Given the description of an element on the screen output the (x, y) to click on. 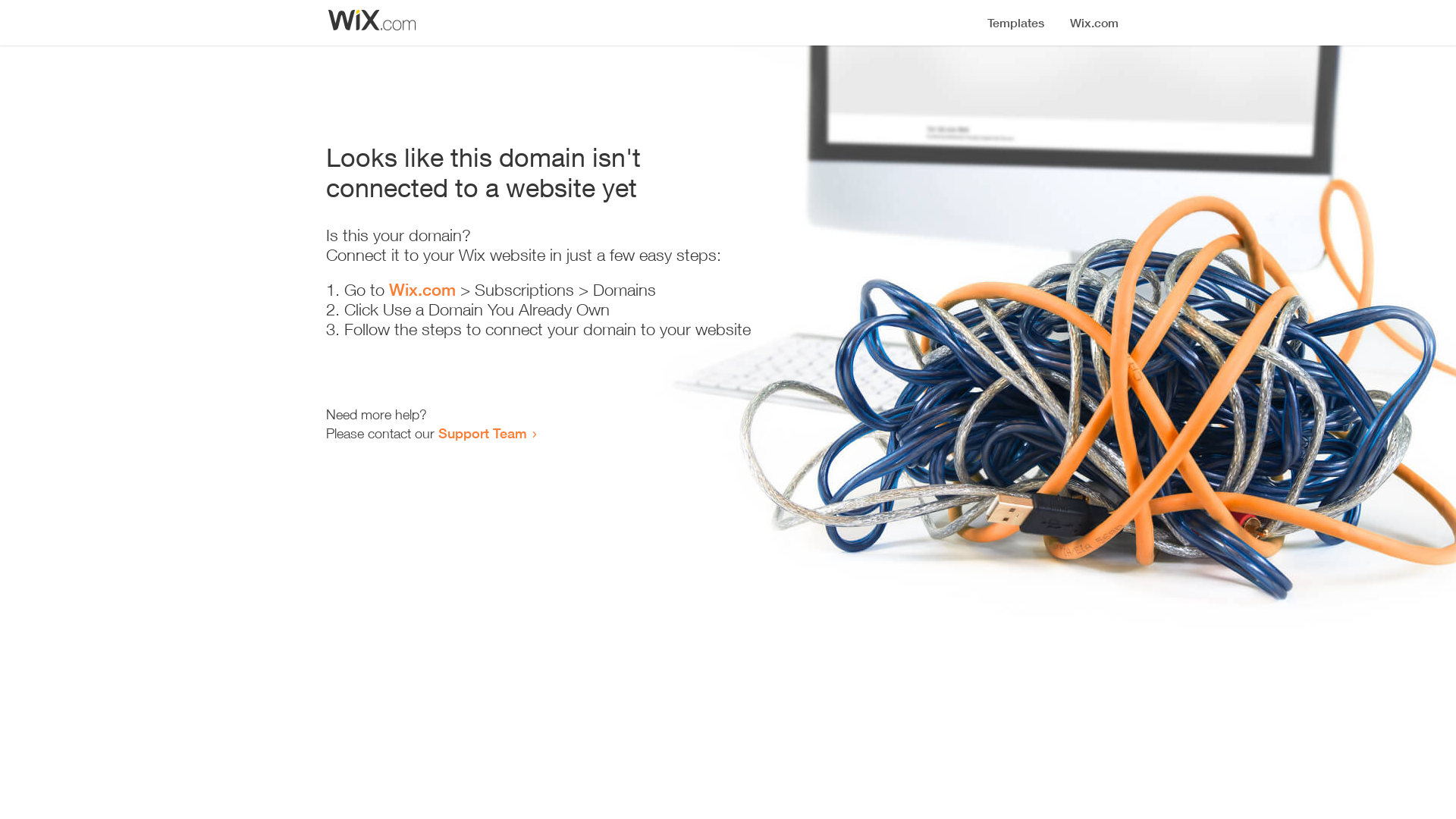
Wix.com Element type: text (422, 289)
Support Team Element type: text (482, 432)
